Given the description of an element on the screen output the (x, y) to click on. 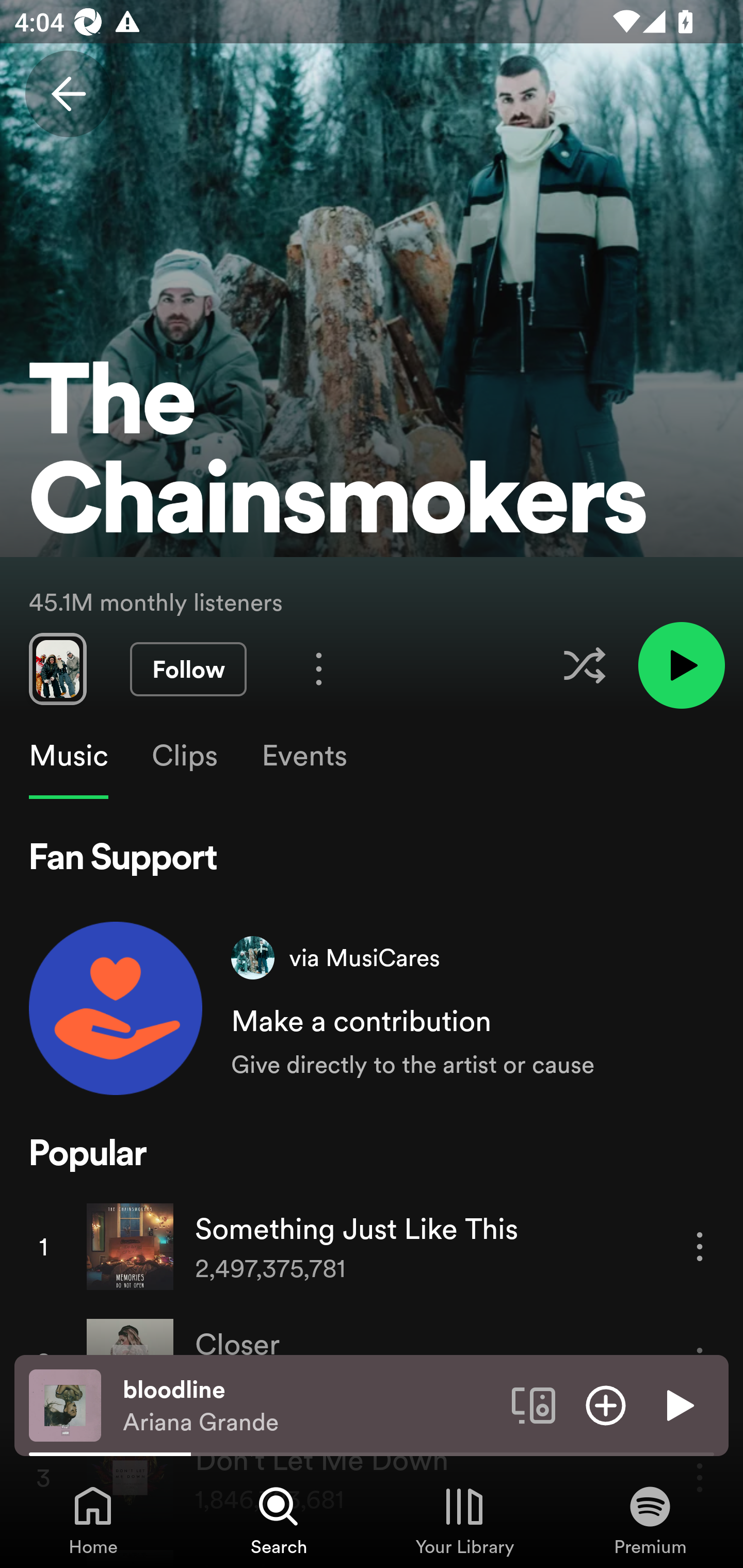
Back (68, 93)
Play artist (681, 664)
Enable shuffle for this artist (583, 665)
Swipe through previews of tracks from this artist. (57, 668)
More options for artist The Chainsmokers (318, 668)
Follow (188, 669)
Clips (184, 755)
Events (303, 755)
More options for song Something Just Like This (699, 1246)
bloodline Ariana Grande (309, 1405)
The cover art of the currently playing track (64, 1404)
Connect to a device. Opens the devices menu (533, 1404)
Add item (605, 1404)
Play (677, 1404)
Home, Tab 1 of 4 Home Home (92, 1519)
Search, Tab 2 of 4 Search Search (278, 1519)
Your Library, Tab 3 of 4 Your Library Your Library (464, 1519)
Premium, Tab 4 of 4 Premium Premium (650, 1519)
